Given the description of an element on the screen output the (x, y) to click on. 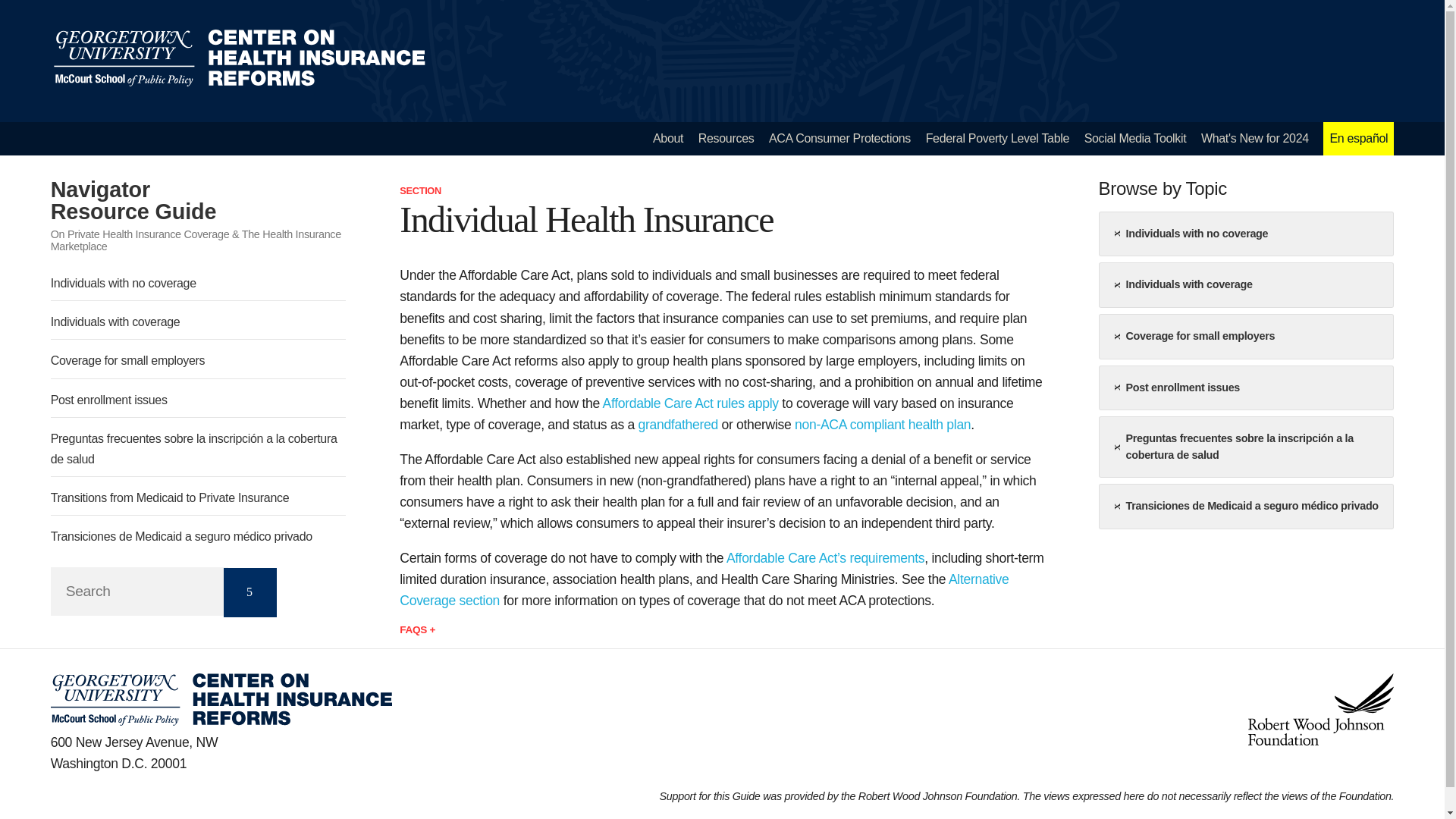
grandfathered (677, 424)
Transitions from Medicaid to Private Insurance (169, 497)
Federal Poverty Level Table (997, 138)
Coverage for small employers (127, 359)
Affordable Care Act rules apply (689, 403)
About (667, 138)
non-ACA compliant health plan (882, 424)
Post enrollment issues (108, 399)
What's New for 2024 (1254, 138)
Resources (133, 200)
Individuals with no coverage (726, 138)
ACA Consumer Protections (123, 282)
Social Media Toolkit (839, 138)
Individuals with coverage (1135, 138)
